Given the description of an element on the screen output the (x, y) to click on. 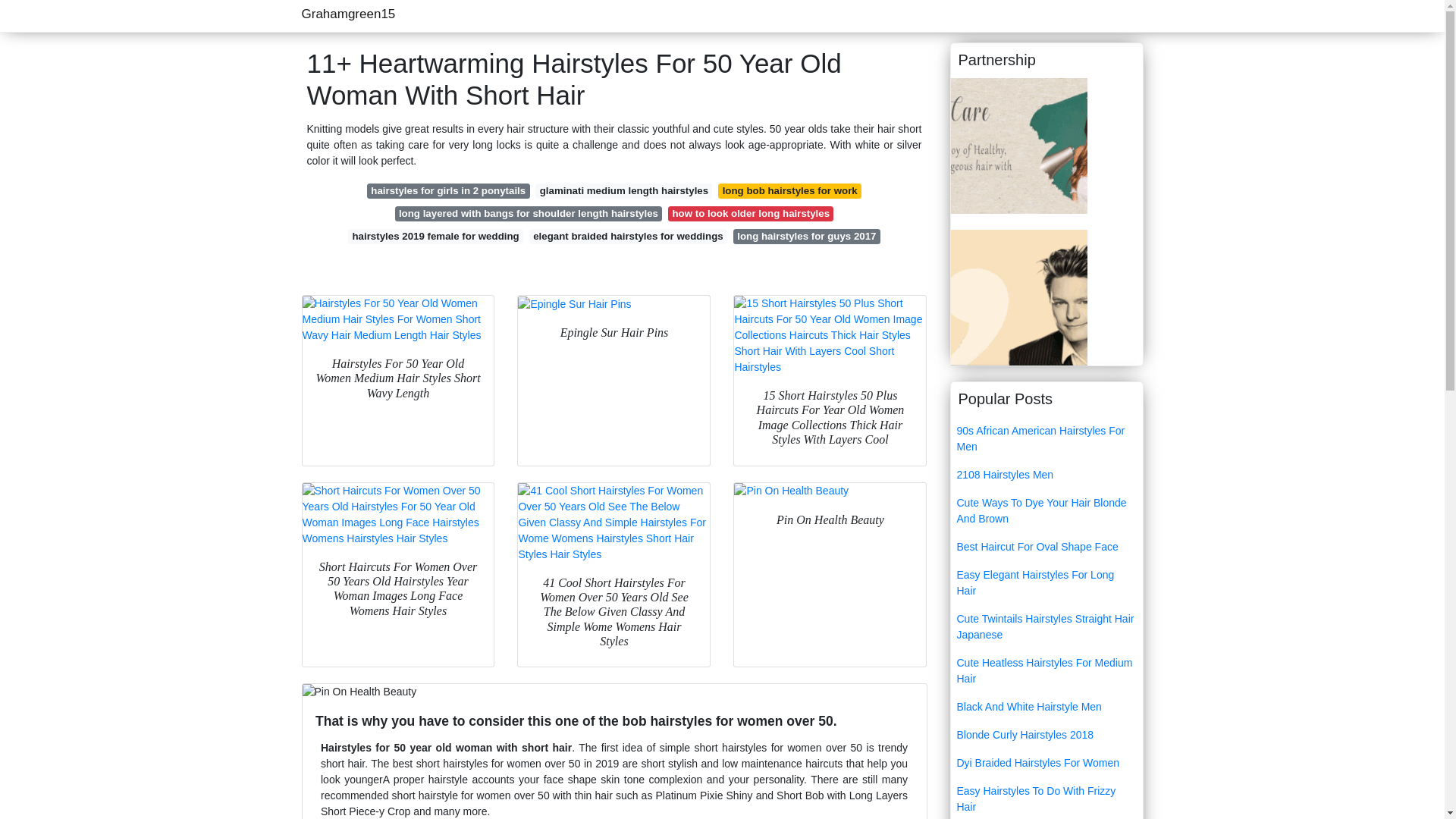
glaminati medium length hairstyles (623, 191)
Legmine2 (1018, 296)
Cute Heatless Hairstyles For Medium Hair (1046, 670)
long layered with bangs for shoulder length hairstyles (528, 213)
Grahamgreen15 (348, 13)
hairstyles 2019 female for wedding (434, 236)
Cute Ways To Dye Your Hair Blonde And Brown (1046, 510)
2108 Hairstyles Men (1046, 474)
Best Haircut For Oval Shape Face (1046, 547)
Dyi Braided Hairstyles For Women (1046, 763)
Blonde Curly Hairstyles 2018 (1046, 735)
Easy Hairstyles To Do With Frizzy Hair (1046, 798)
hairstyles for girls in 2 ponytails (447, 191)
how to look older long hairstyles (750, 213)
long bob hairstyles for work (789, 191)
